Given the description of an element on the screen output the (x, y) to click on. 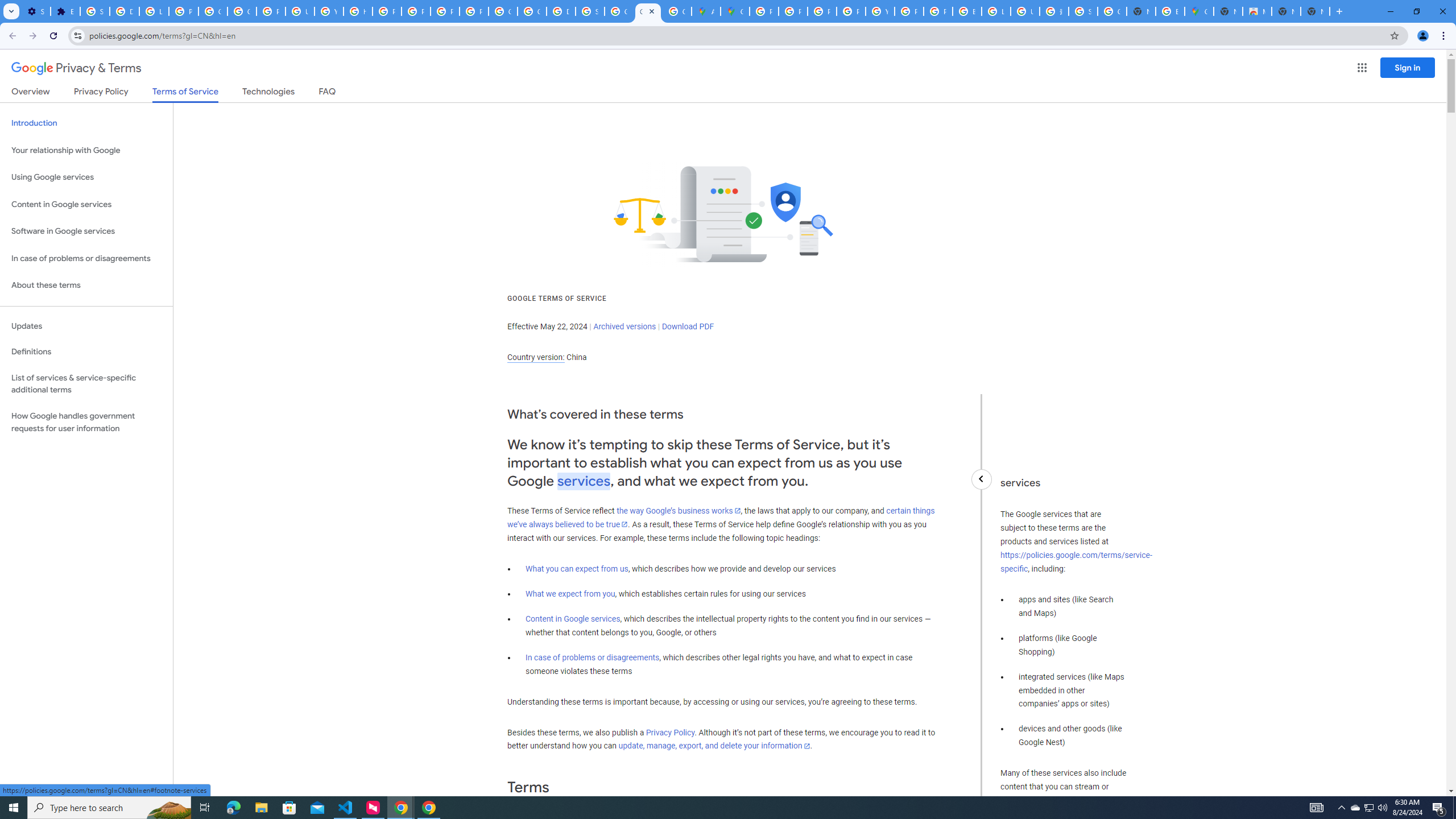
Privacy Help Center - Policies Help (386, 11)
YouTube (327, 11)
About these terms (86, 284)
https://scholar.google.com/ (357, 11)
Software in Google services (86, 230)
